Given the description of an element on the screen output the (x, y) to click on. 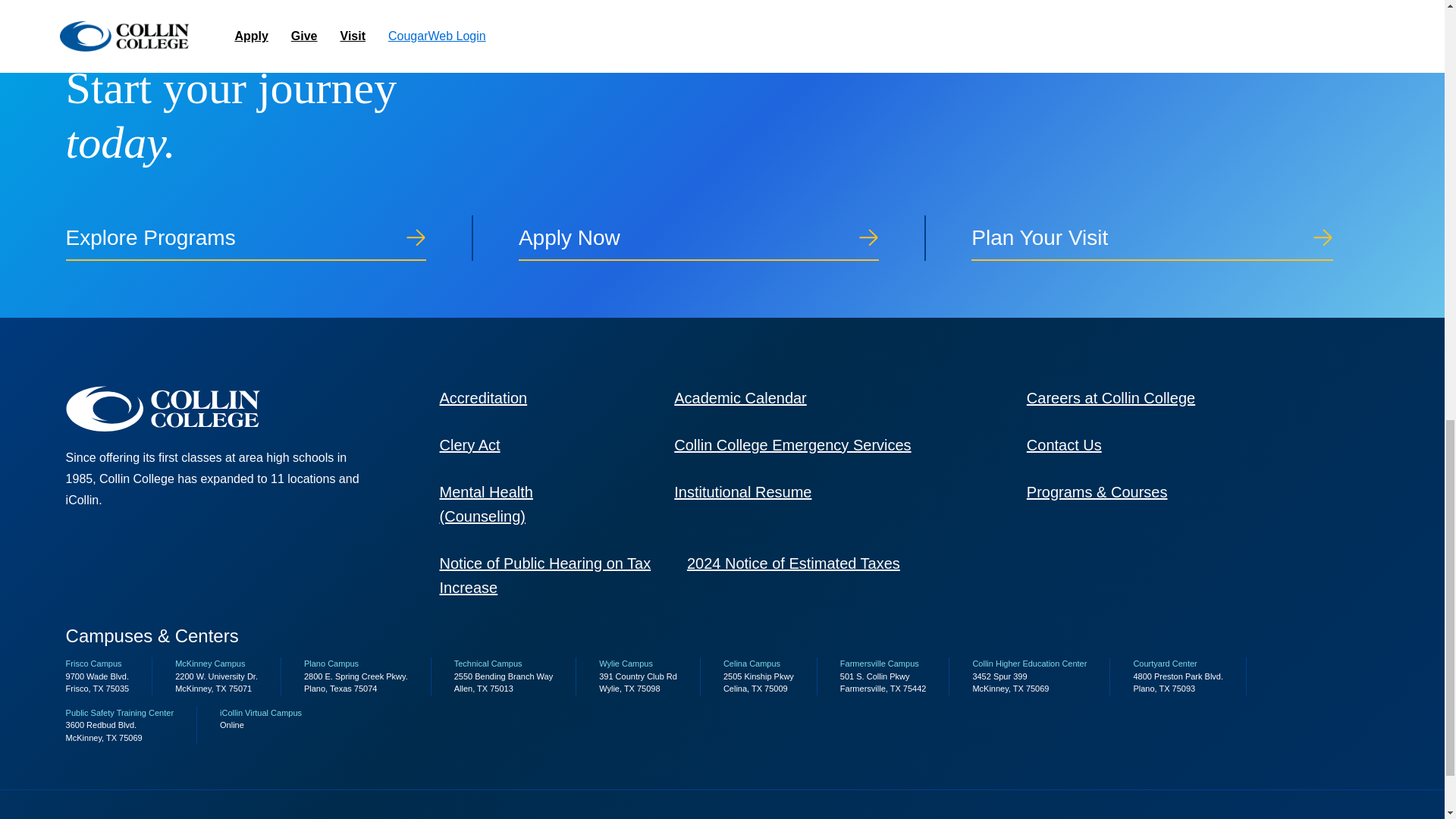
Academic Calendar (740, 397)
Clery Act (469, 444)
Careers at Collin College (1110, 397)
Notice of Public Hearing on Tax Increase (544, 575)
Plan Your Visit (1174, 238)
Accreditation (483, 397)
Explore Programs (269, 238)
Contact Us (1064, 444)
Collin College Emergency Services (792, 444)
Institutional Resume (742, 492)
